Given the description of an element on the screen output the (x, y) to click on. 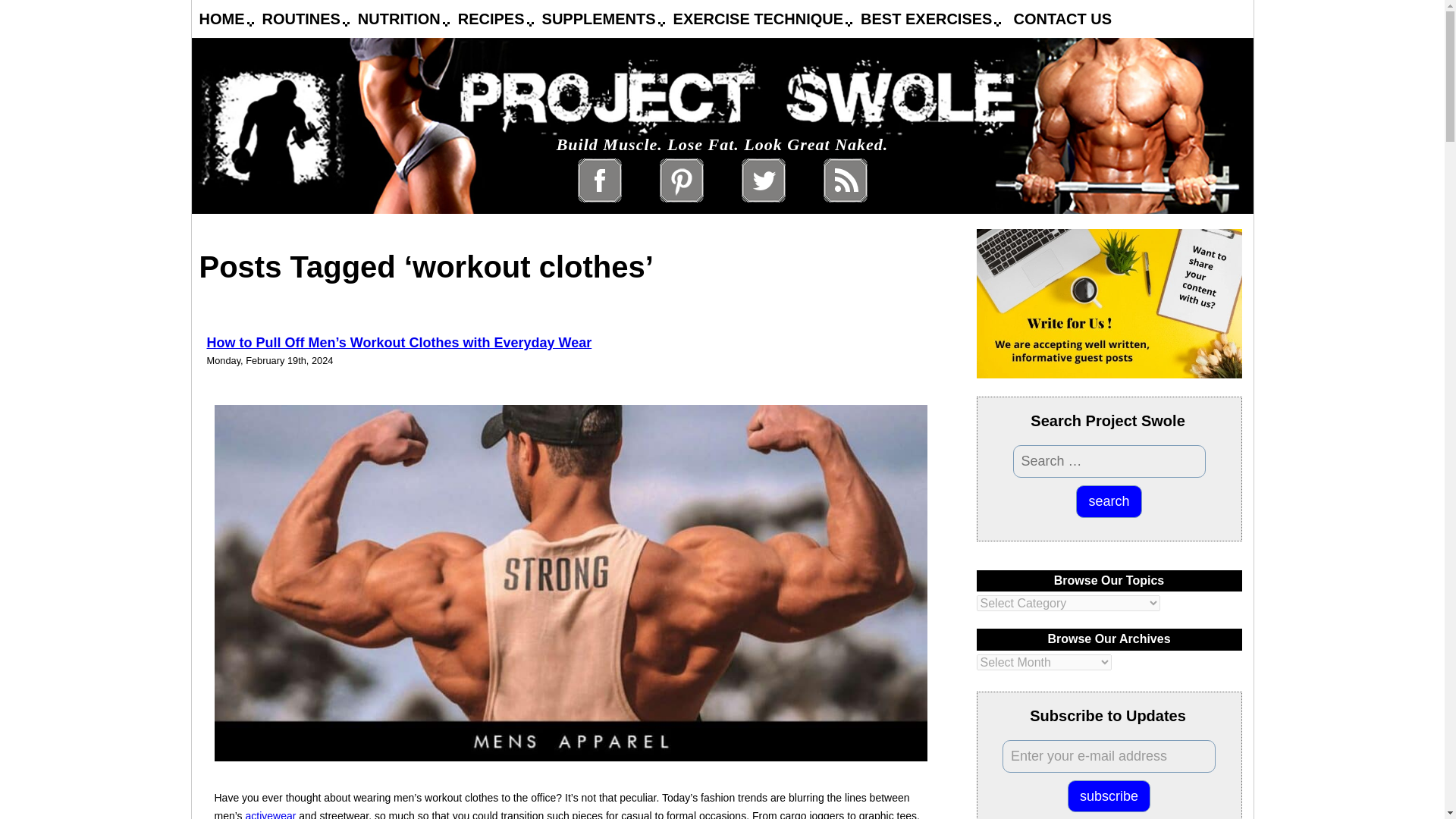
RECIPES (491, 18)
Enter your e-mail address (1109, 756)
subscribe (1108, 795)
Search (1108, 501)
HOME (221, 18)
ROUTINES (301, 18)
Search (1108, 501)
NUTRITION (399, 18)
